Given the description of an element on the screen output the (x, y) to click on. 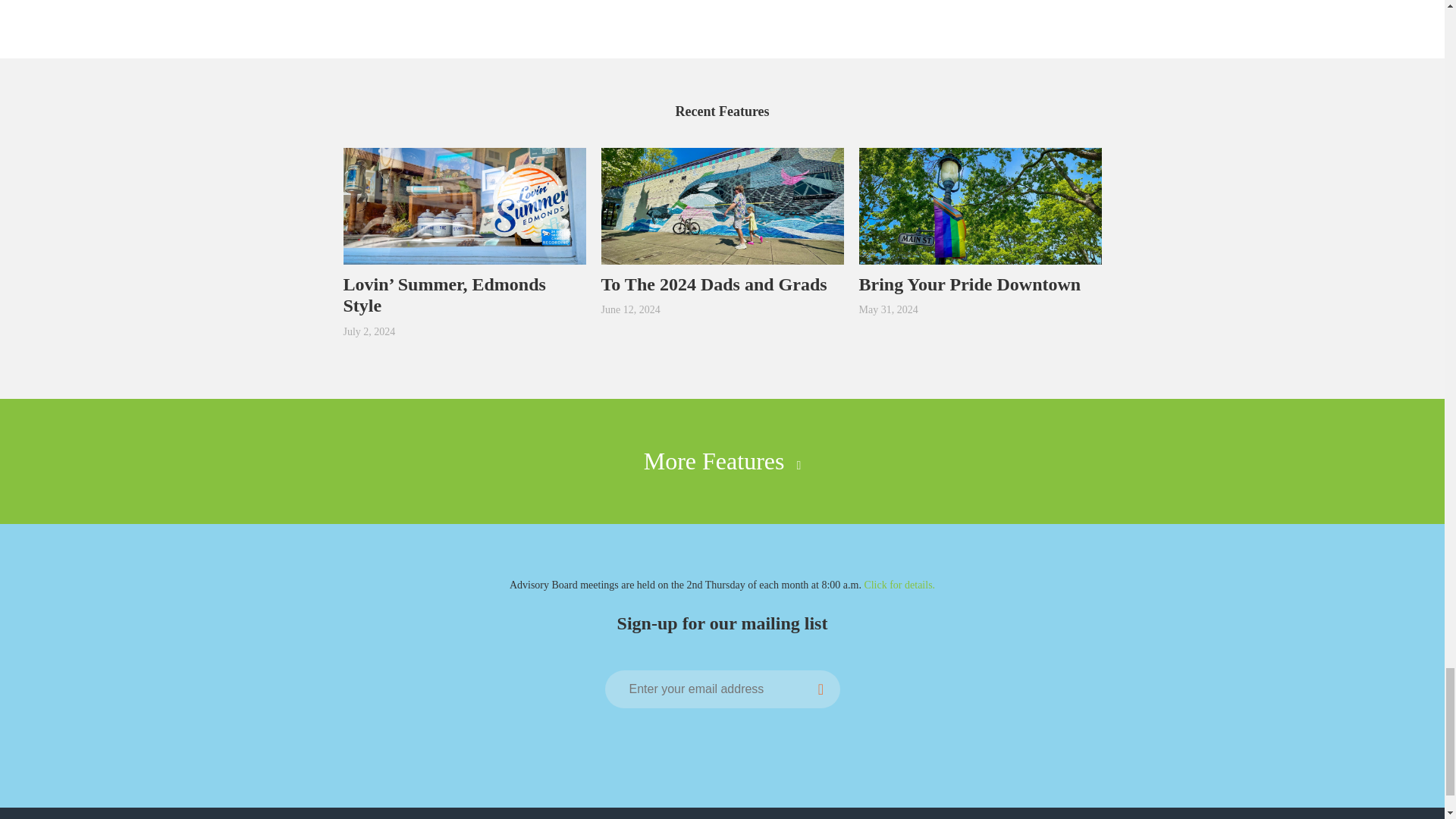
Subscribe (821, 689)
